Given the description of an element on the screen output the (x, y) to click on. 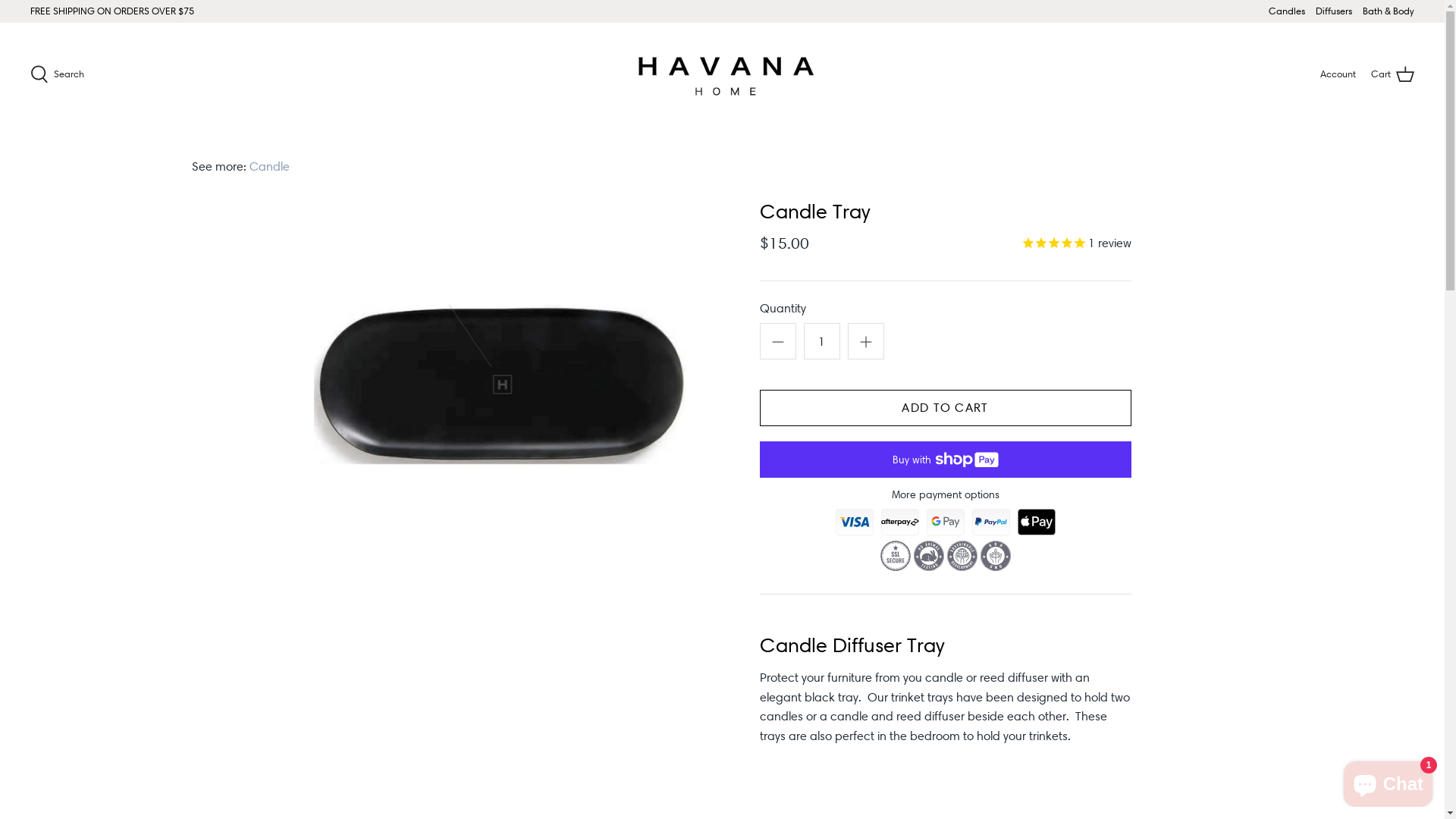
Add to Cart Element type: text (945, 407)
Cart Element type: text (1392, 73)
Candles Element type: text (1286, 11)
Diffusers Element type: text (1333, 11)
Minus Element type: text (777, 341)
Plus Element type: text (865, 341)
Shopify online store chat Element type: hover (1388, 780)
Bath & Body Element type: text (1388, 11)
More payment options Element type: text (945, 494)
Candle Element type: text (268, 166)
Account Element type: text (1337, 73)
HAVANA HOME Element type: hover (722, 73)
Search Element type: text (57, 73)
